Given the description of an element on the screen output the (x, y) to click on. 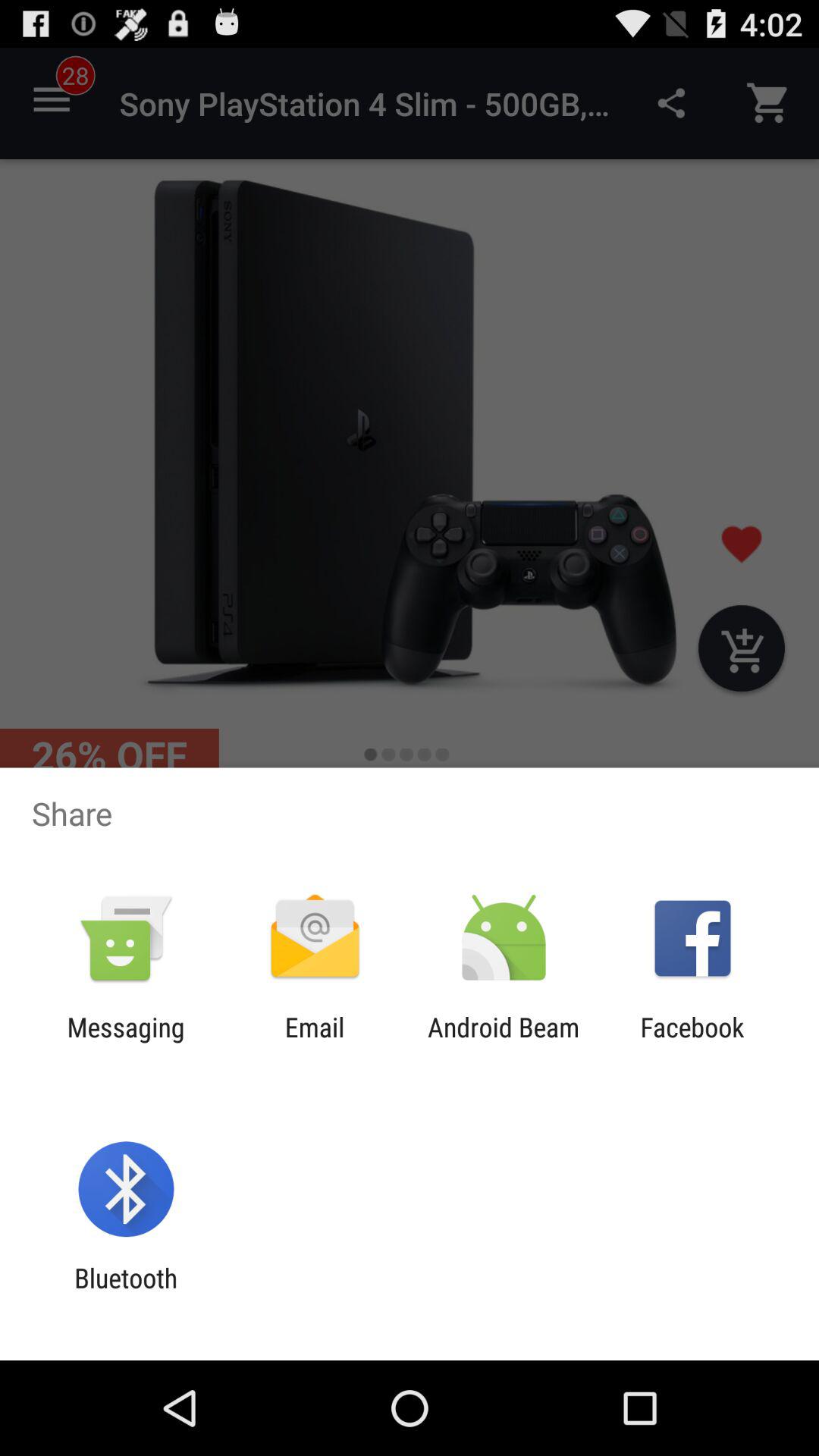
open icon next to facebook item (503, 1042)
